Given the description of an element on the screen output the (x, y) to click on. 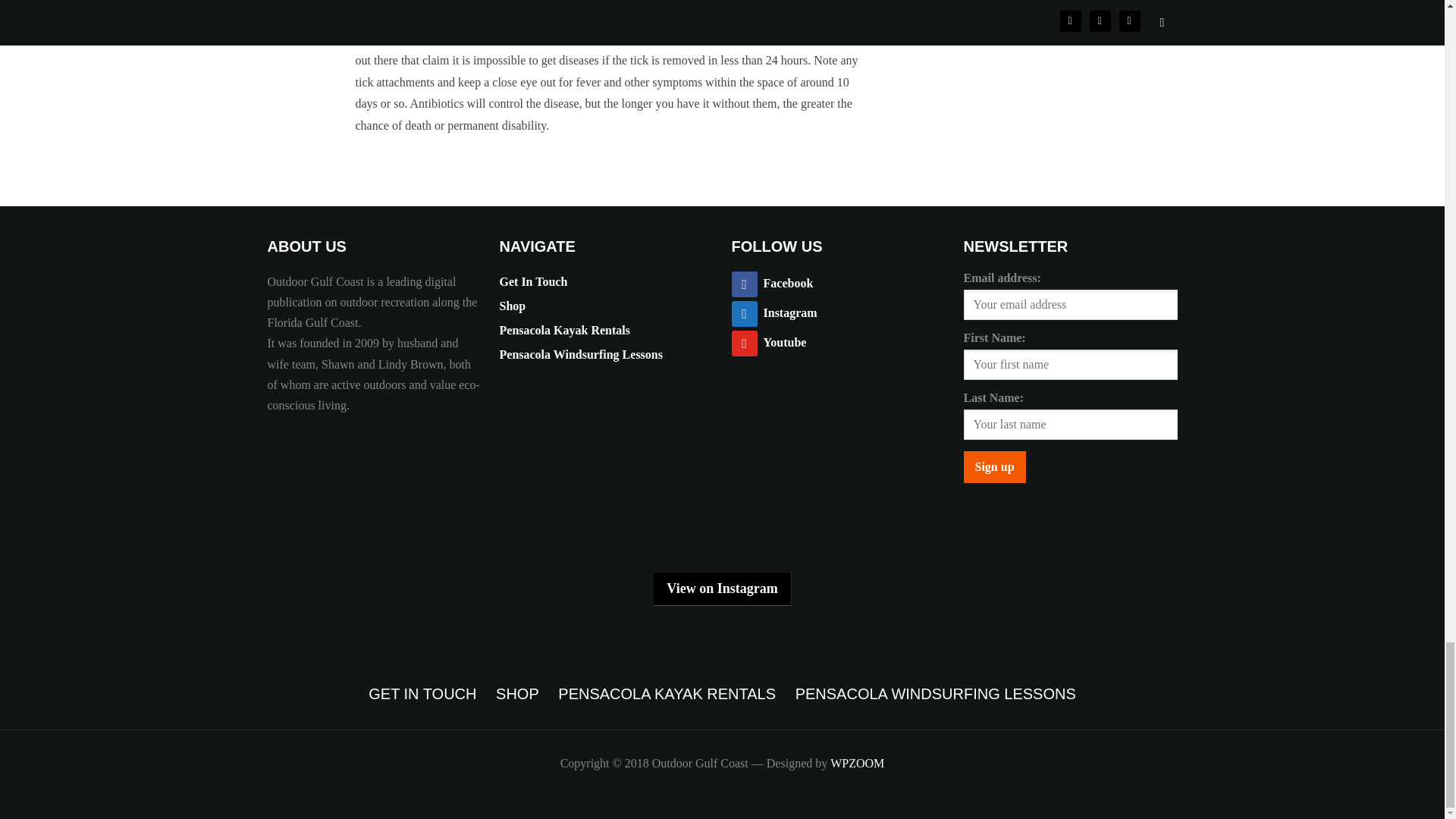
Sign up (993, 467)
